Given the description of an element on the screen output the (x, y) to click on. 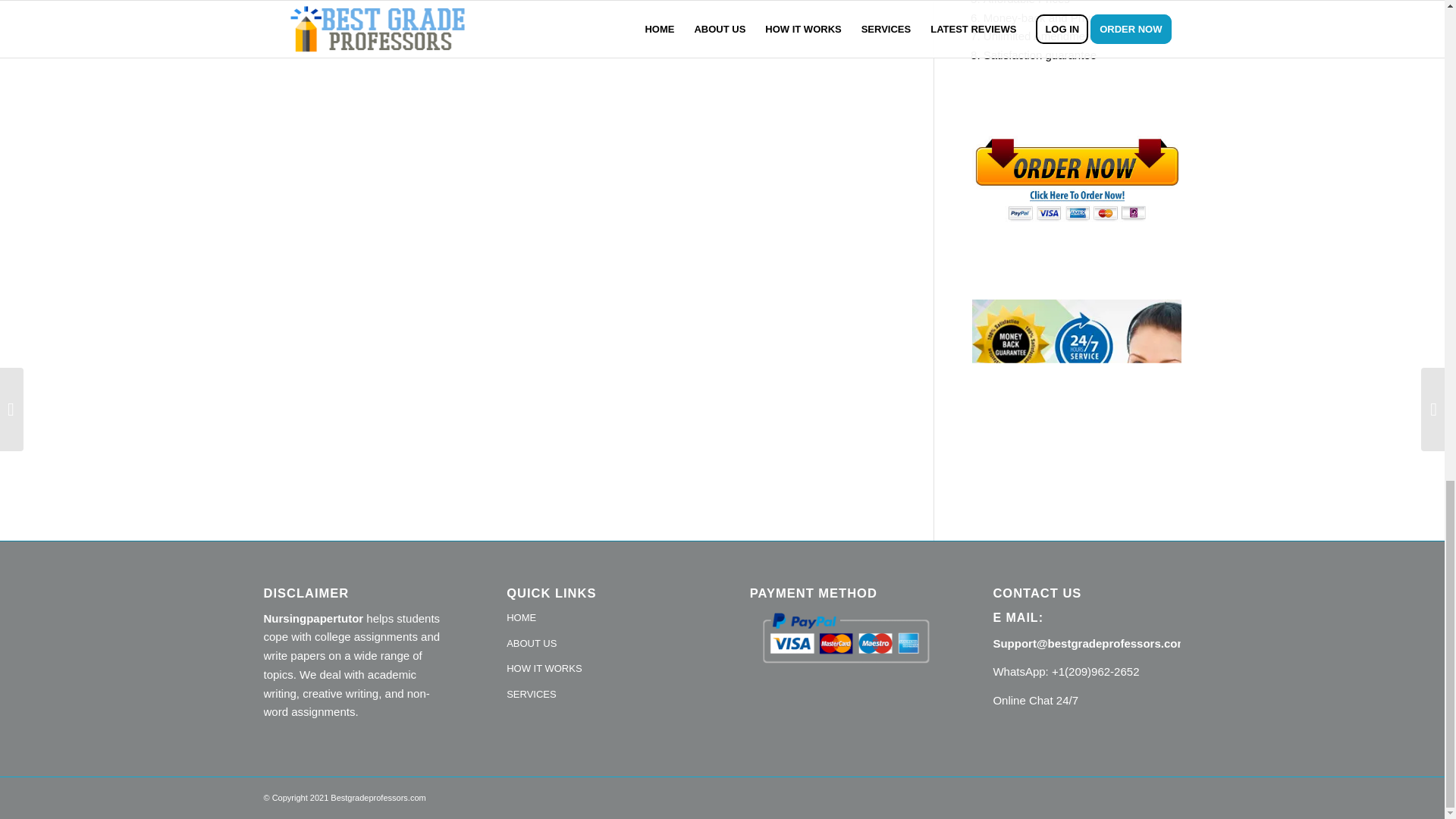
HOW IT WORKS (600, 669)
SERVICES (600, 695)
ABOUT US (600, 644)
HOME (600, 618)
